Given the description of an element on the screen output the (x, y) to click on. 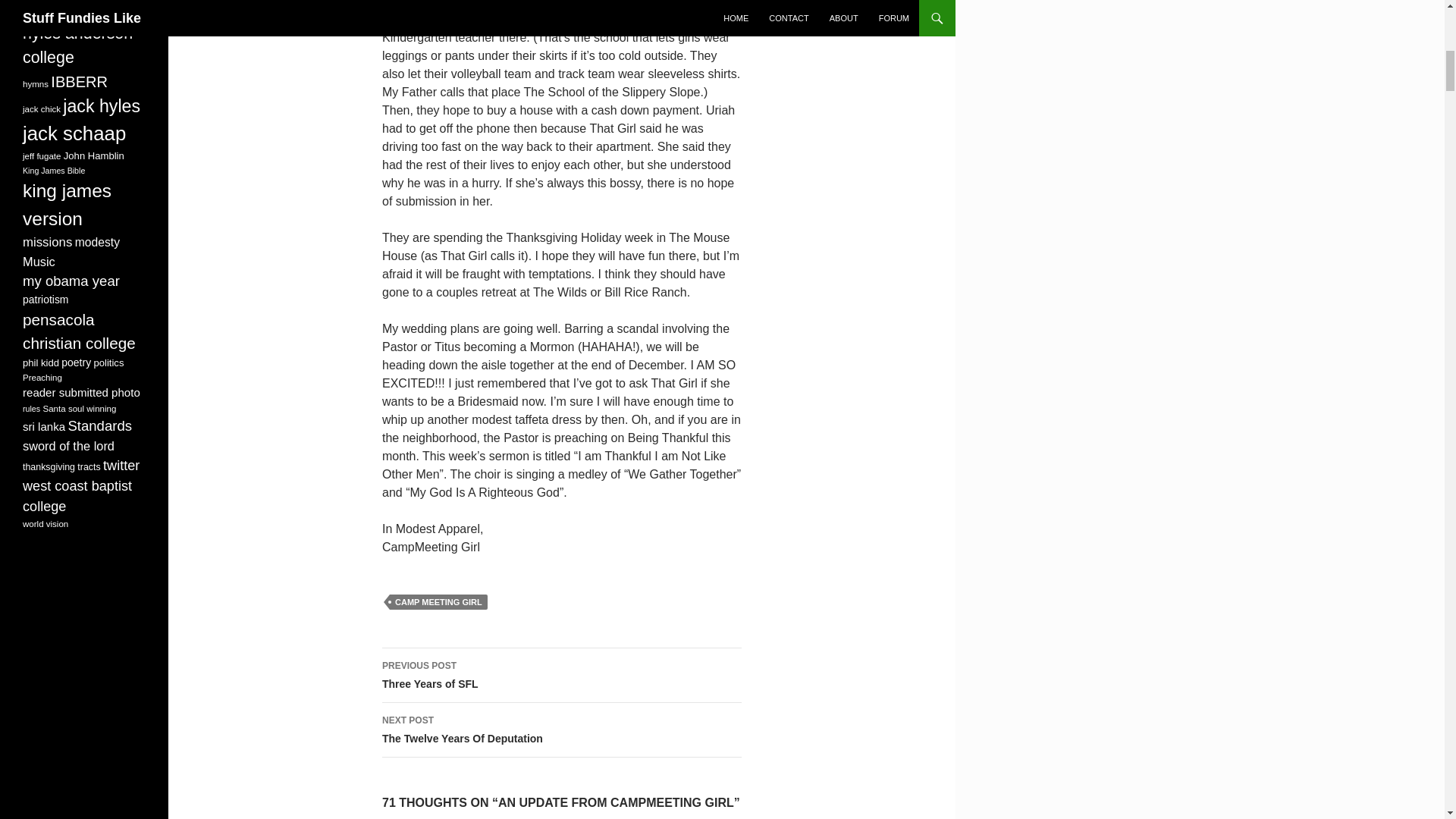
CAMP MEETING GIRL (561, 675)
